Given the description of an element on the screen output the (x, y) to click on. 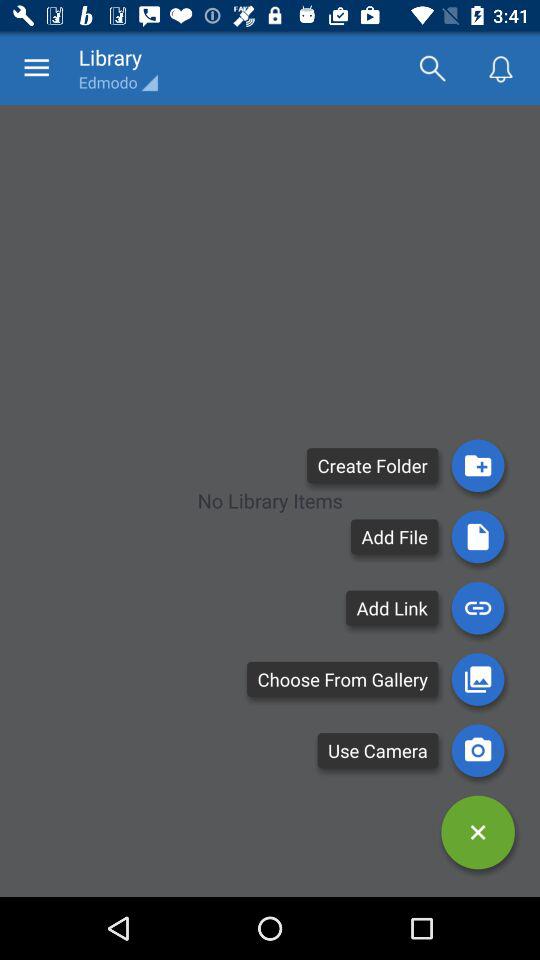
add a link (478, 607)
